Given the description of an element on the screen output the (x, y) to click on. 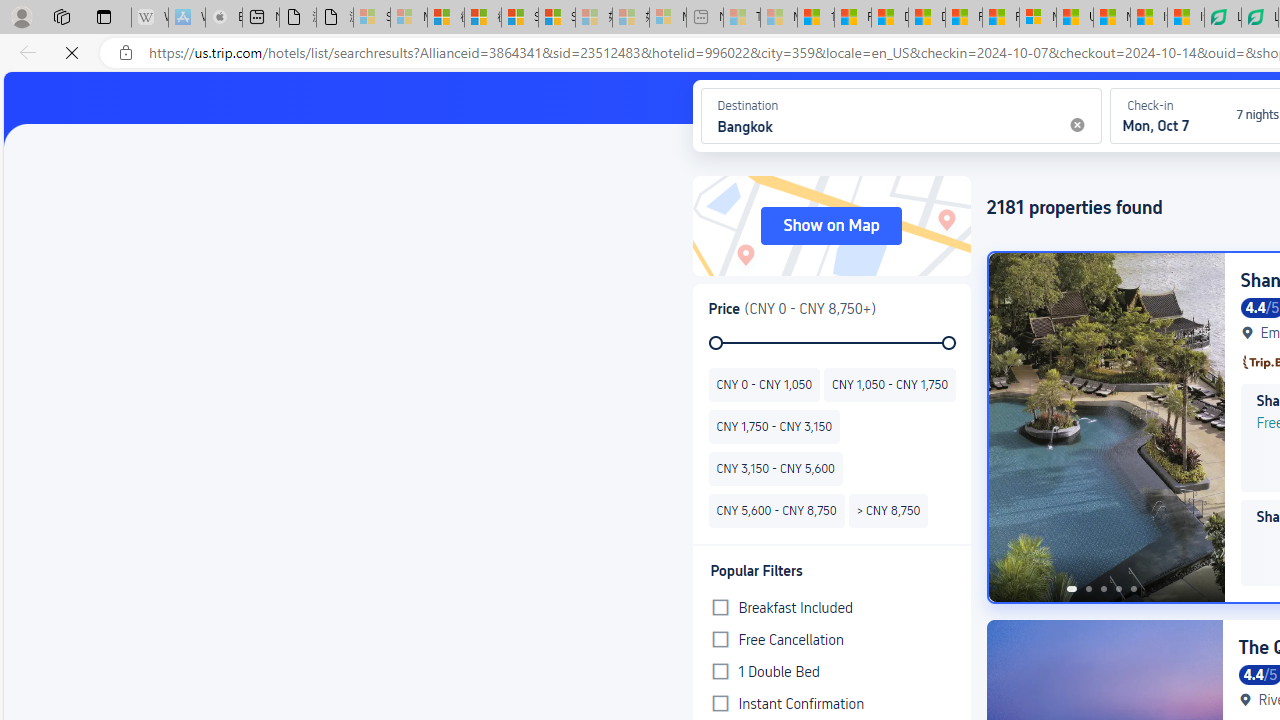
Sign in to your Microsoft account - Sleeping (372, 17)
Drinking tea every day is proven to delay biological aging (926, 17)
Food and Drink - MSN (852, 17)
Foo BAR | Trusted Community Engagement and Contributions (1000, 17)
Marine life - MSN - Sleeping (779, 17)
LendingTree - Compare Lenders (1222, 17)
